Given the description of an element on the screen output the (x, y) to click on. 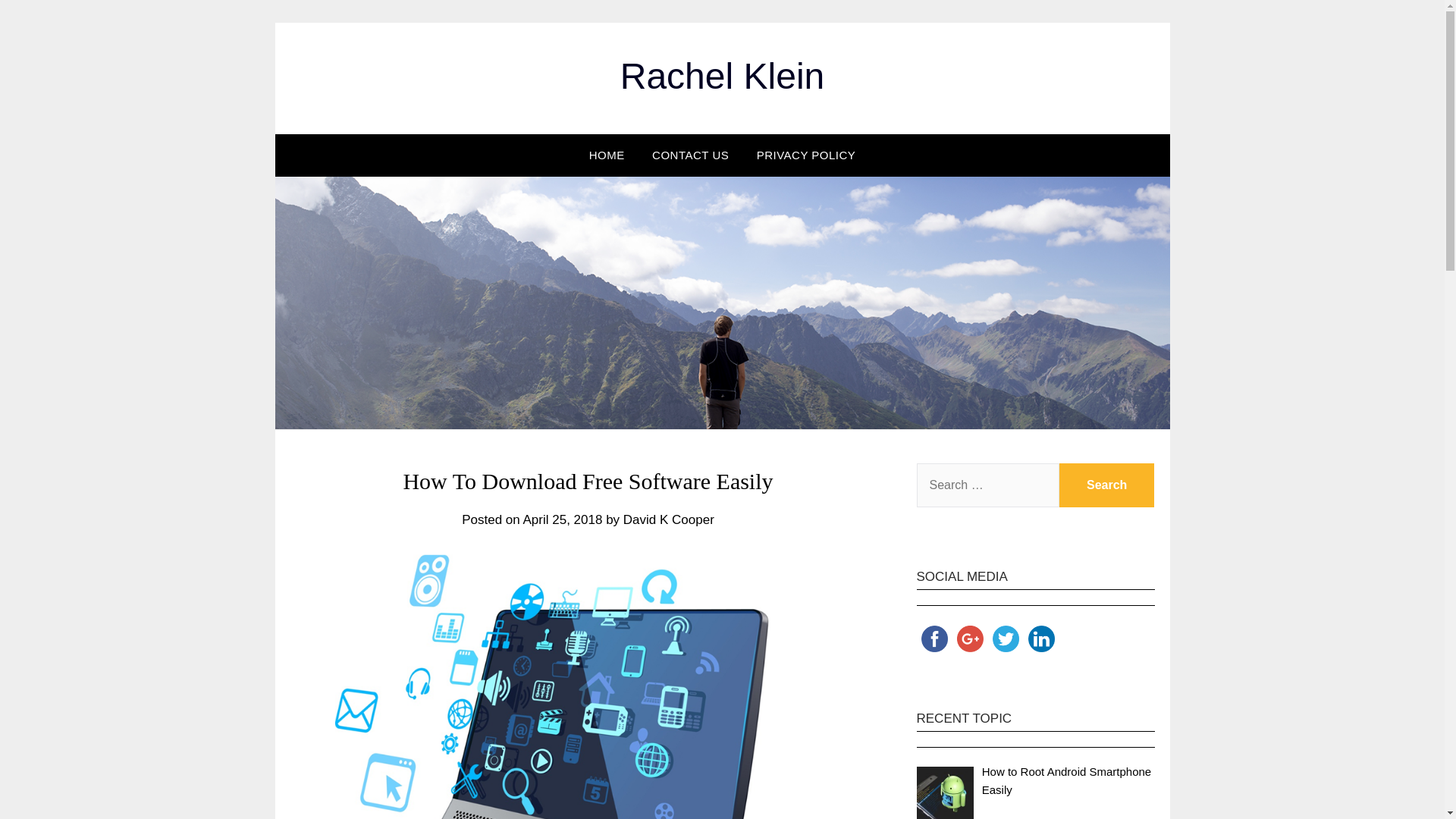
Search (1106, 484)
Rachel Klein (722, 76)
David K Cooper (668, 519)
PRIVACY POLICY (805, 155)
HOME (606, 155)
facebook (933, 638)
linkedin (1041, 638)
Search (1106, 484)
google (970, 638)
April 25, 2018 (562, 519)
twitter (1005, 638)
How to Root Android Smartphone Easily (1066, 780)
Search (1106, 484)
CONTACT US (690, 155)
